Given the description of an element on the screen output the (x, y) to click on. 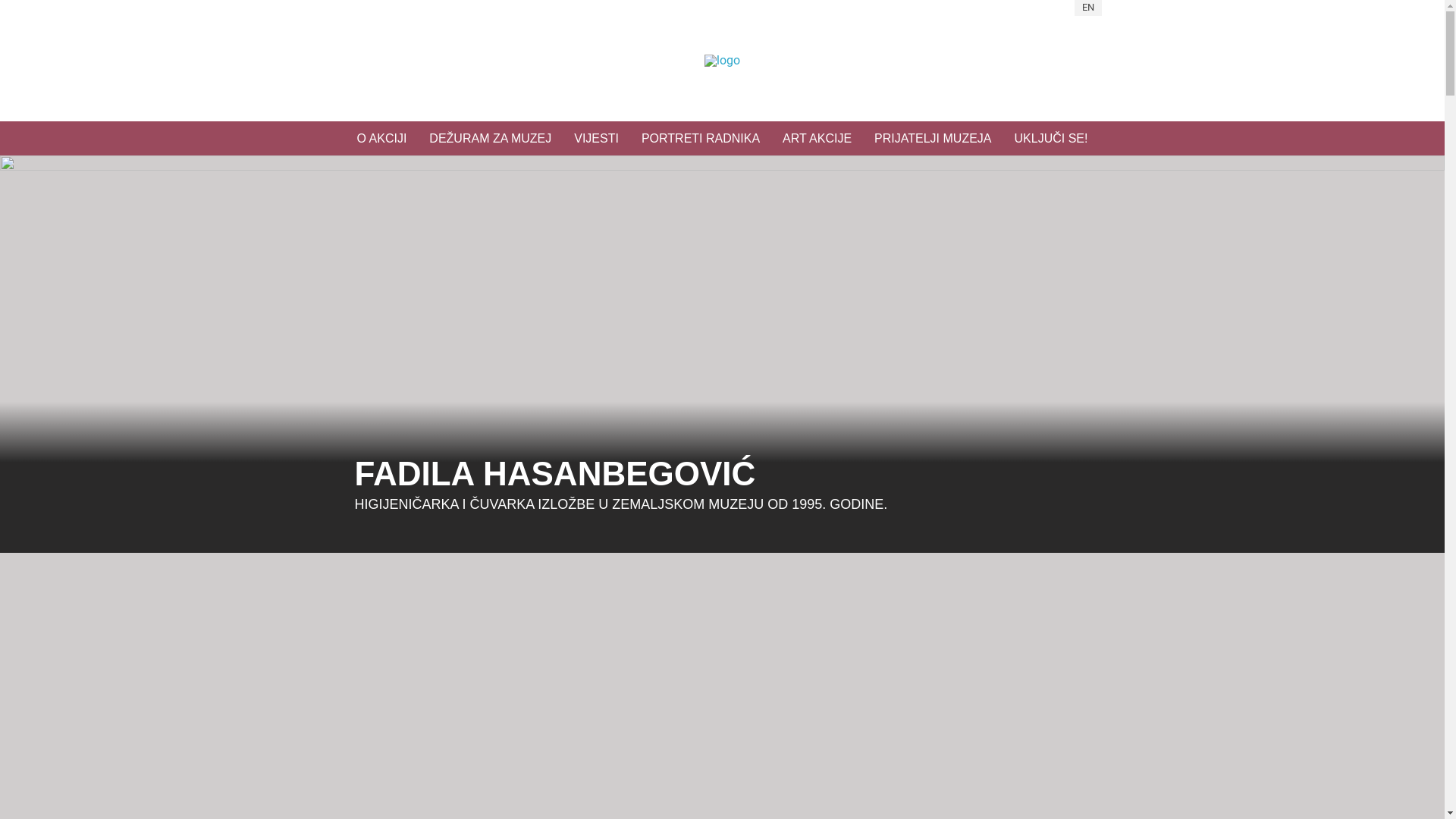
 Home Element type: hover (722, 60)
VIJESTI Element type: text (596, 138)
EN Element type: text (1087, 6)
Skip to main content Element type: text (54, 0)
O AKCIJI Element type: text (381, 138)
ART AKCIJE Element type: text (816, 138)
PRIJATELJI MUZEJA Element type: text (932, 138)
PORTRETI RADNIKA Element type: text (700, 138)
 Home Element type: hover (722, 60)
